Given the description of an element on the screen output the (x, y) to click on. 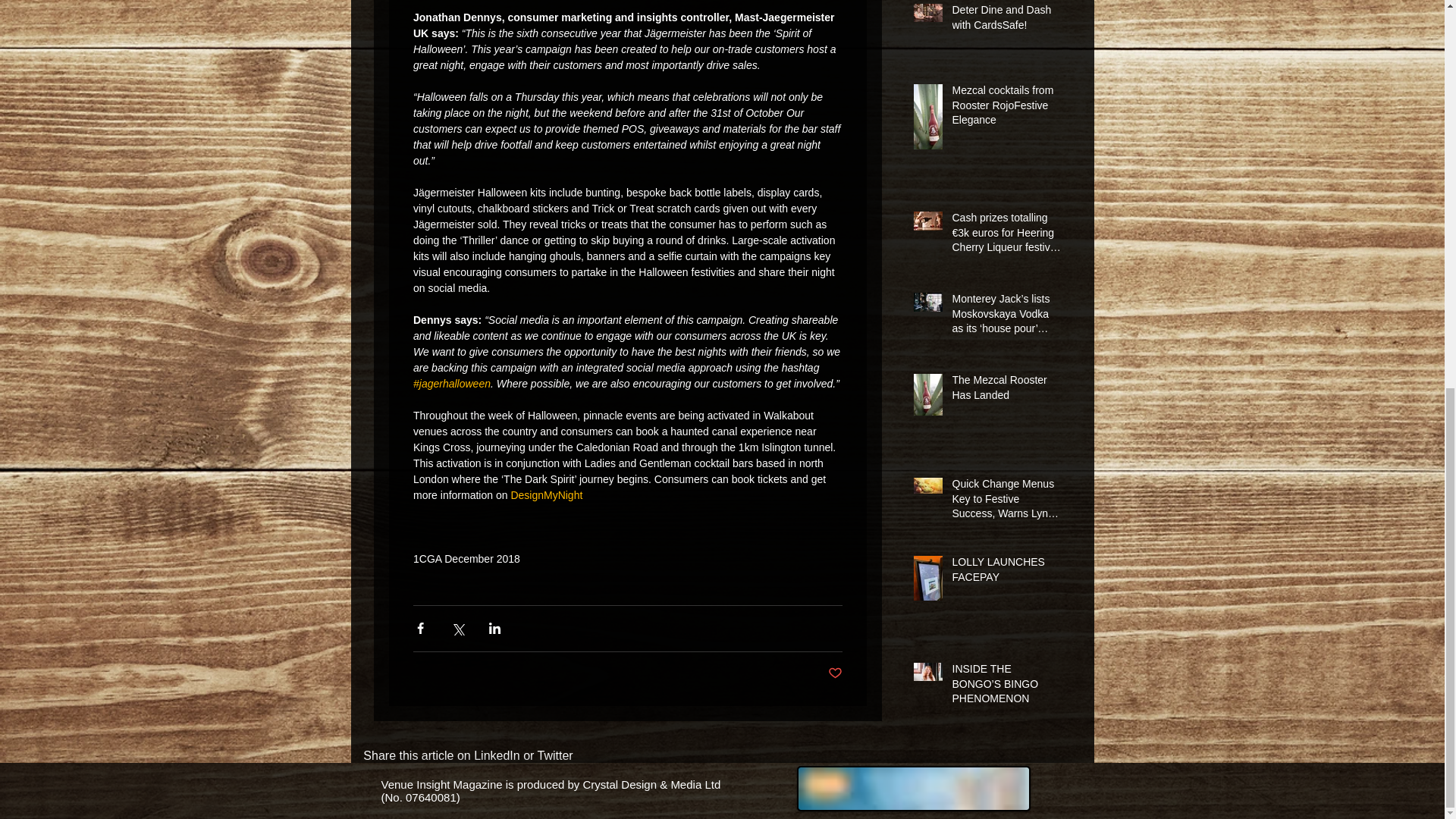
Mezcal cocktails from Rooster RojoFestive Elegance (1006, 108)
Deter Dine and Dash with CardsSafe! (1006, 20)
DesignMyNight (546, 494)
The Mezcal Rooster Has Landed (1006, 390)
Post not marked as liked (835, 673)
LOLLY LAUNCHES FACEPAY (1006, 572)
